Given the description of an element on the screen output the (x, y) to click on. 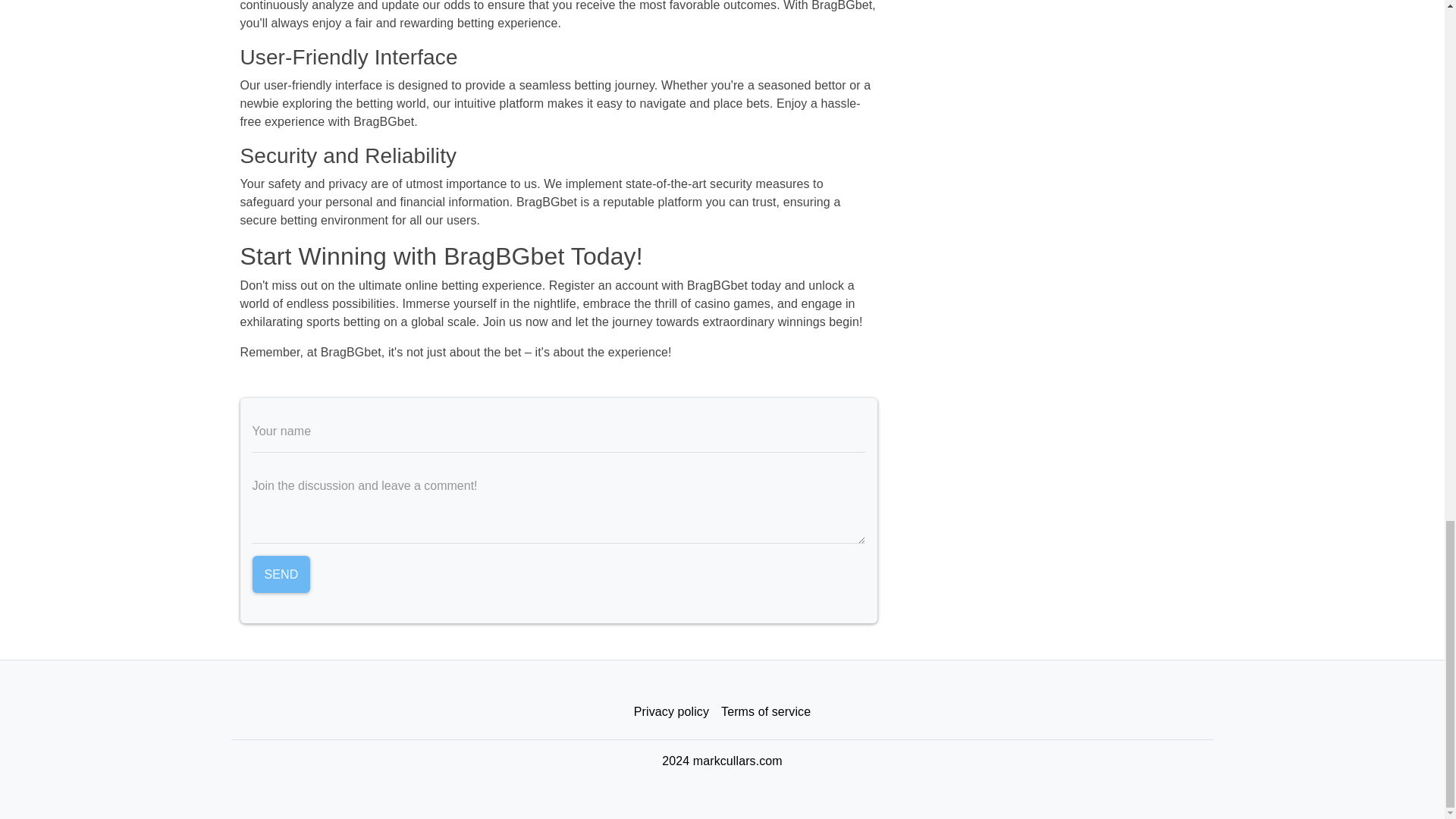
Privacy policy (670, 711)
Send (280, 574)
Terms of service (765, 711)
Send (280, 574)
